Given the description of an element on the screen output the (x, y) to click on. 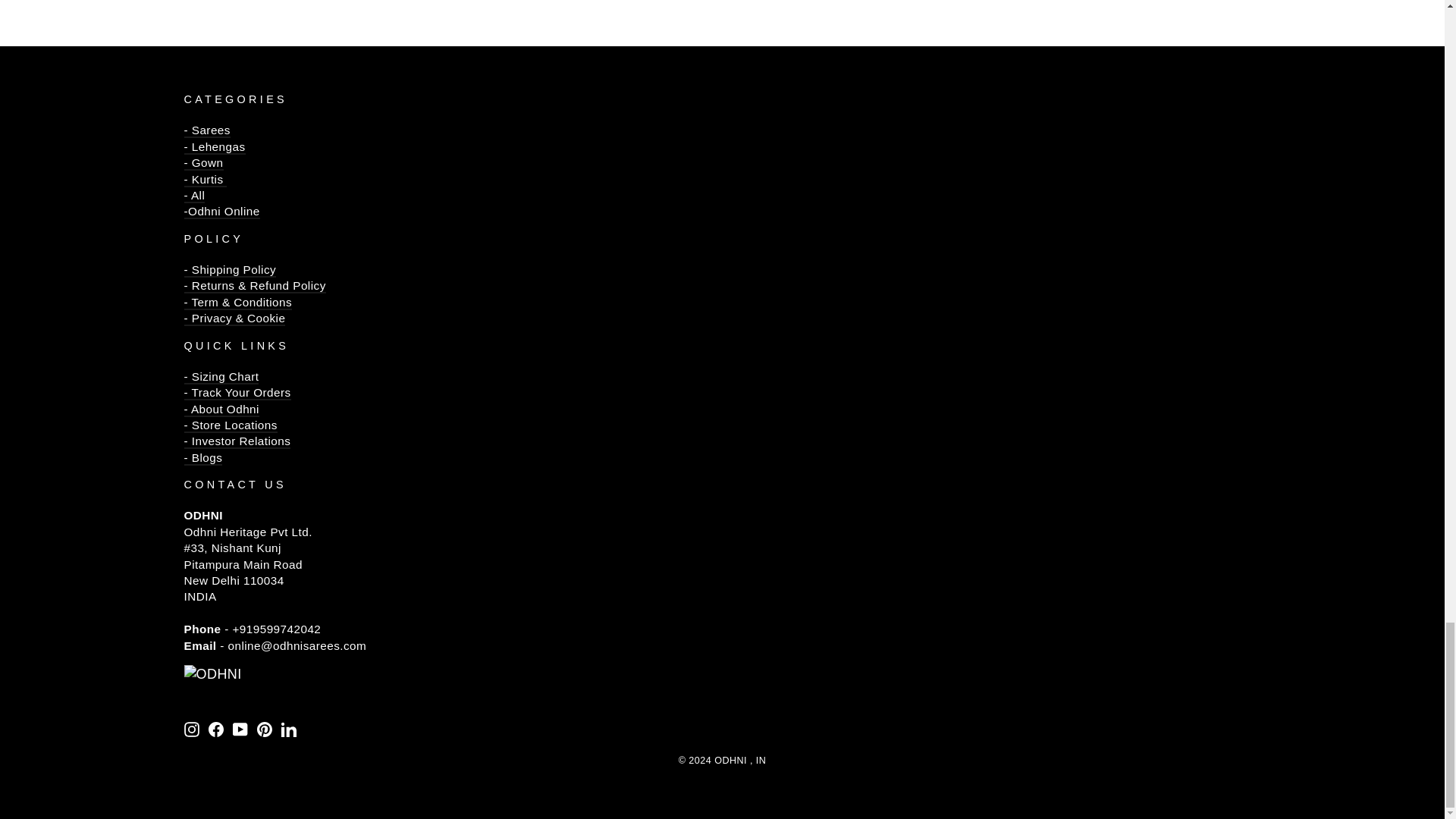
Sarees (206, 138)
Lehengas (213, 147)
All Products (194, 204)
Party Wear Gown For Women (202, 163)
Kurtis (205, 179)
